Given the description of an element on the screen output the (x, y) to click on. 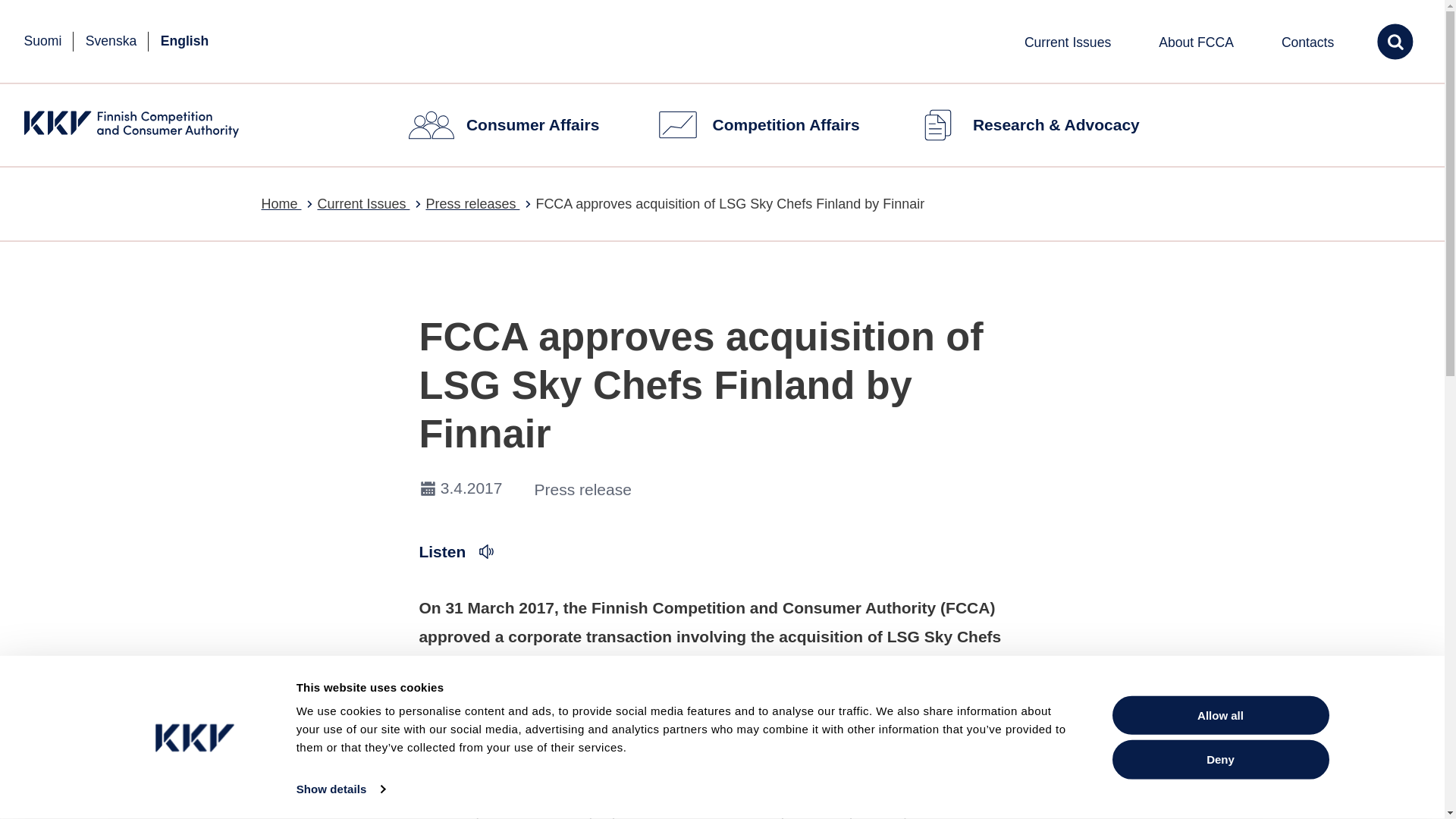
Listen with ReadSpeaker webReader (457, 551)
Show details (340, 789)
